Given the description of an element on the screen output the (x, y) to click on. 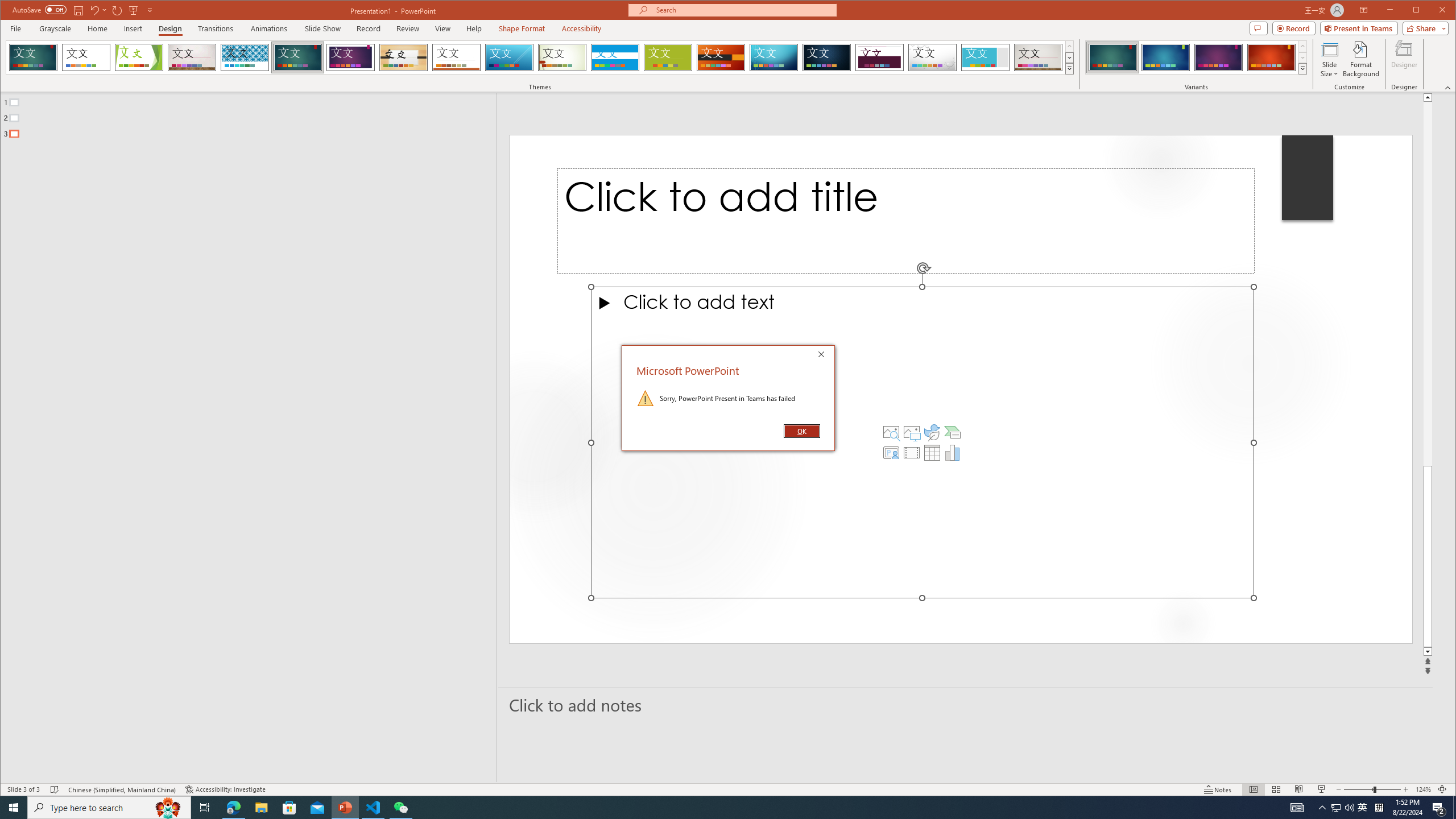
AutomationID: 4105 (1297, 807)
Outline (252, 115)
Office Theme (85, 57)
File Explorer (261, 807)
PowerPoint - 1 running window (345, 807)
Slide Notes (965, 704)
Task View (204, 807)
Integral (244, 57)
Running applications (707, 807)
Ion Variant 4 (1270, 57)
